Given the description of an element on the screen output the (x, y) to click on. 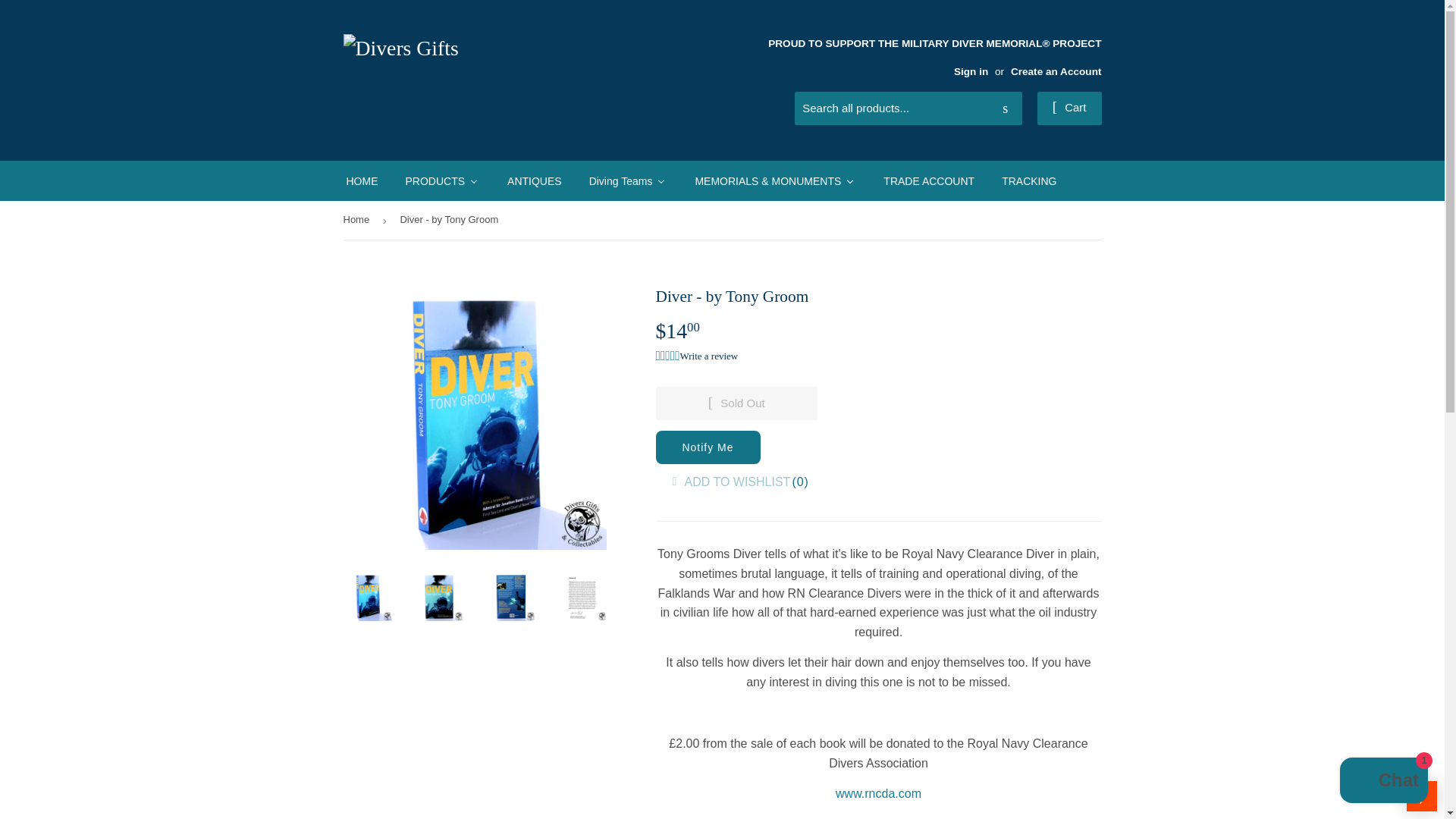
Cart (1069, 107)
Create an Account (1056, 71)
Sign in (970, 71)
Search (1005, 108)
